Given the description of an element on the screen output the (x, y) to click on. 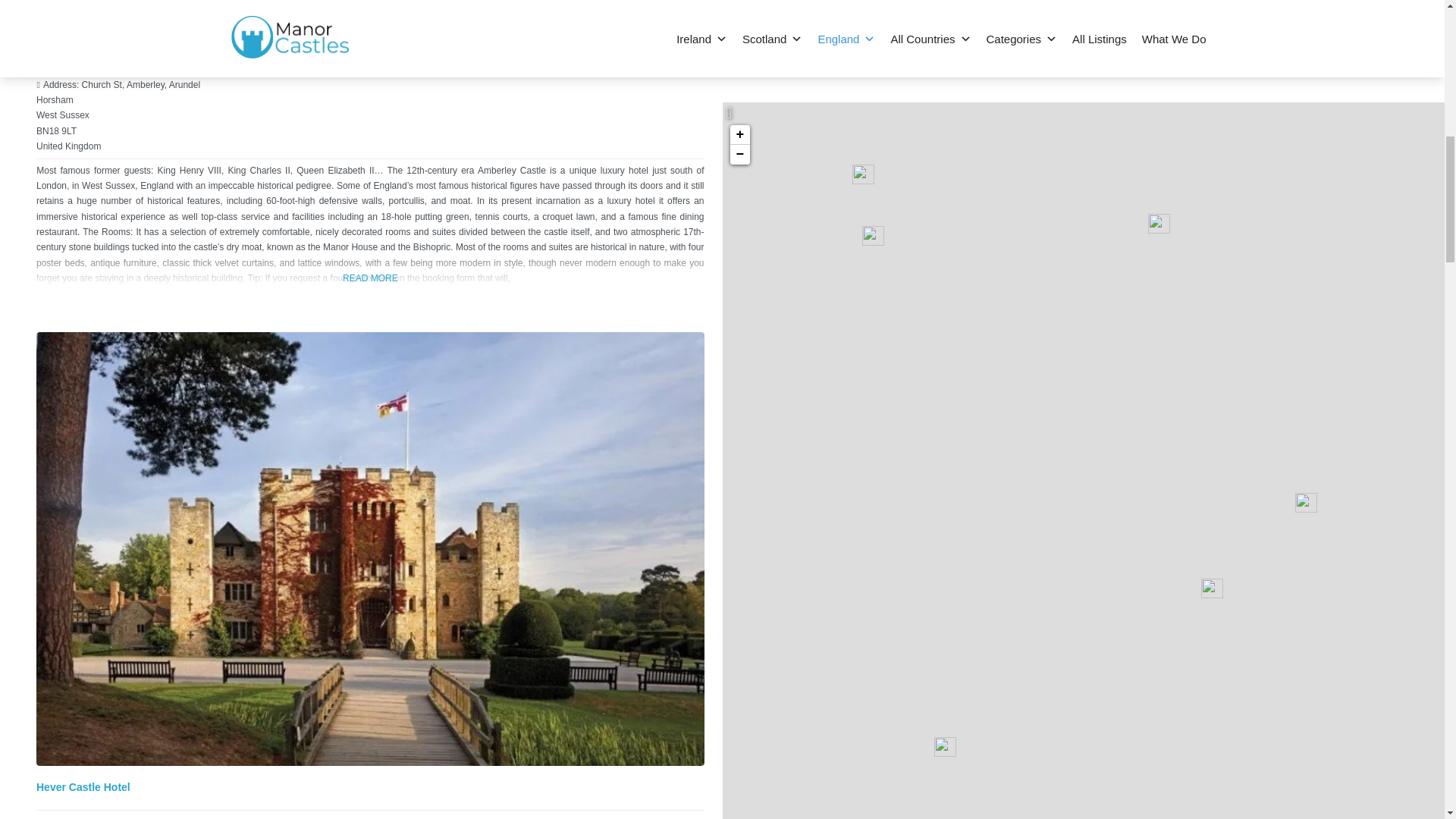
View: Amberley Castle Hotel (92, 22)
View: Hever Castle Hotel (83, 787)
